Given the description of an element on the screen output the (x, y) to click on. 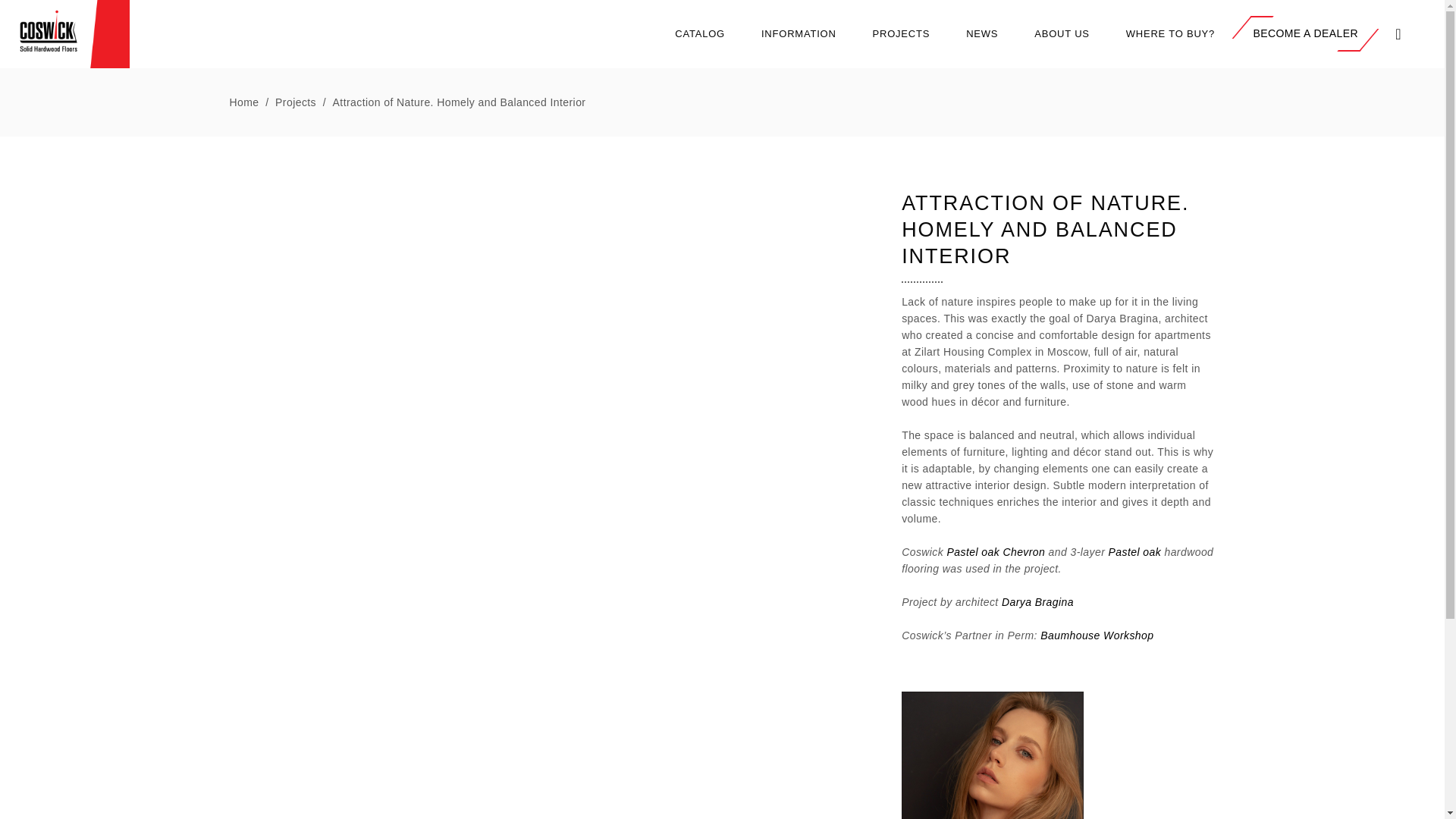
CATALOG (699, 33)
BECOME A DEALER (1305, 33)
ABOUT US (1061, 33)
INFORMATION (798, 33)
NEWS (981, 33)
WHERE TO BUY? (1170, 33)
PROJECTS (901, 33)
